Given the description of an element on the screen output the (x, y) to click on. 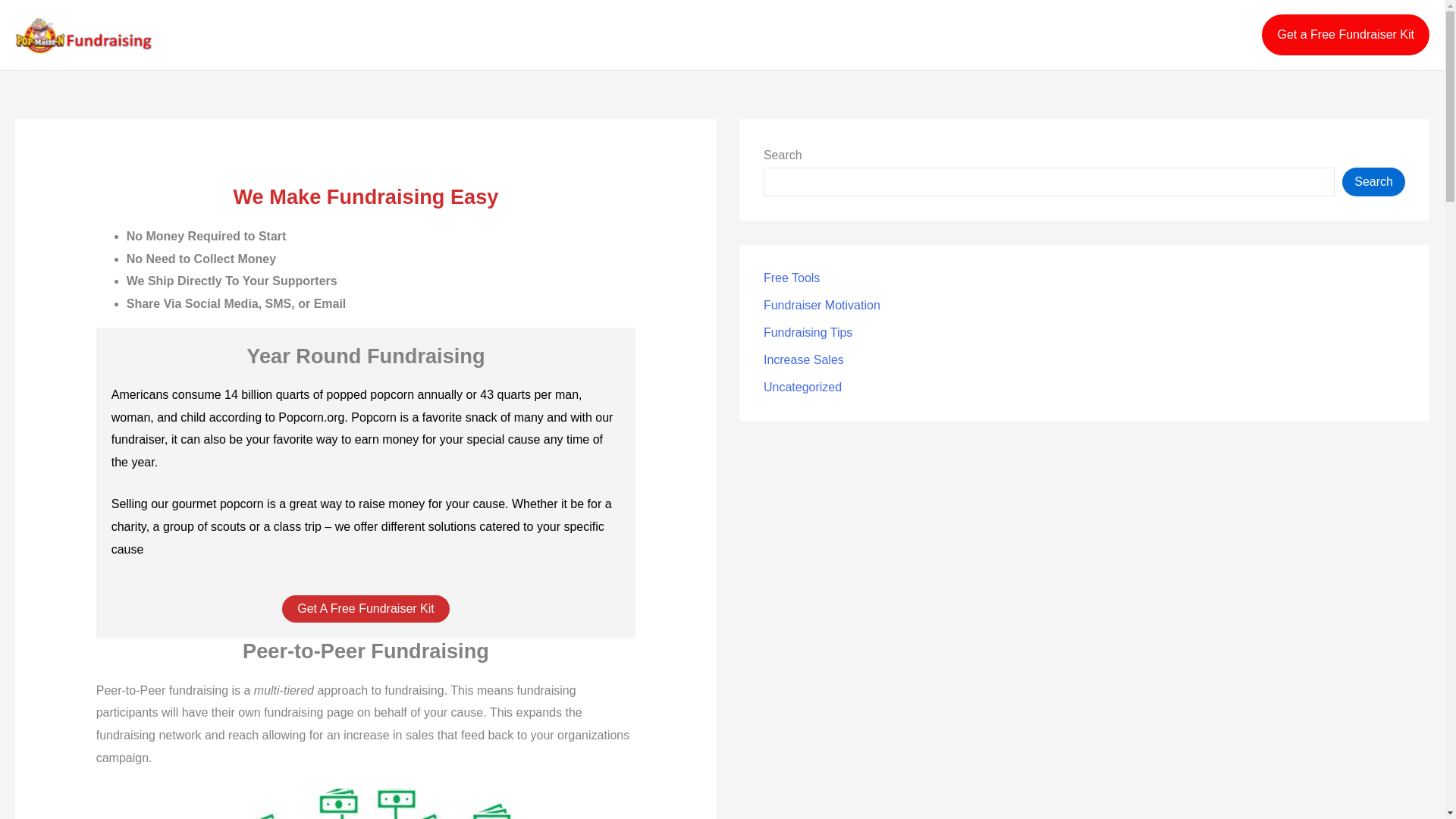
Free Tools (790, 277)
Get A Free Fundraiser Kit (365, 608)
Search (1373, 181)
Uncategorized (801, 386)
Fundraiser Motivation (821, 305)
Increase Sales (803, 359)
Get a Free Fundraiser Kit (1345, 34)
Fundraising Tips (806, 332)
